Given the description of an element on the screen output the (x, y) to click on. 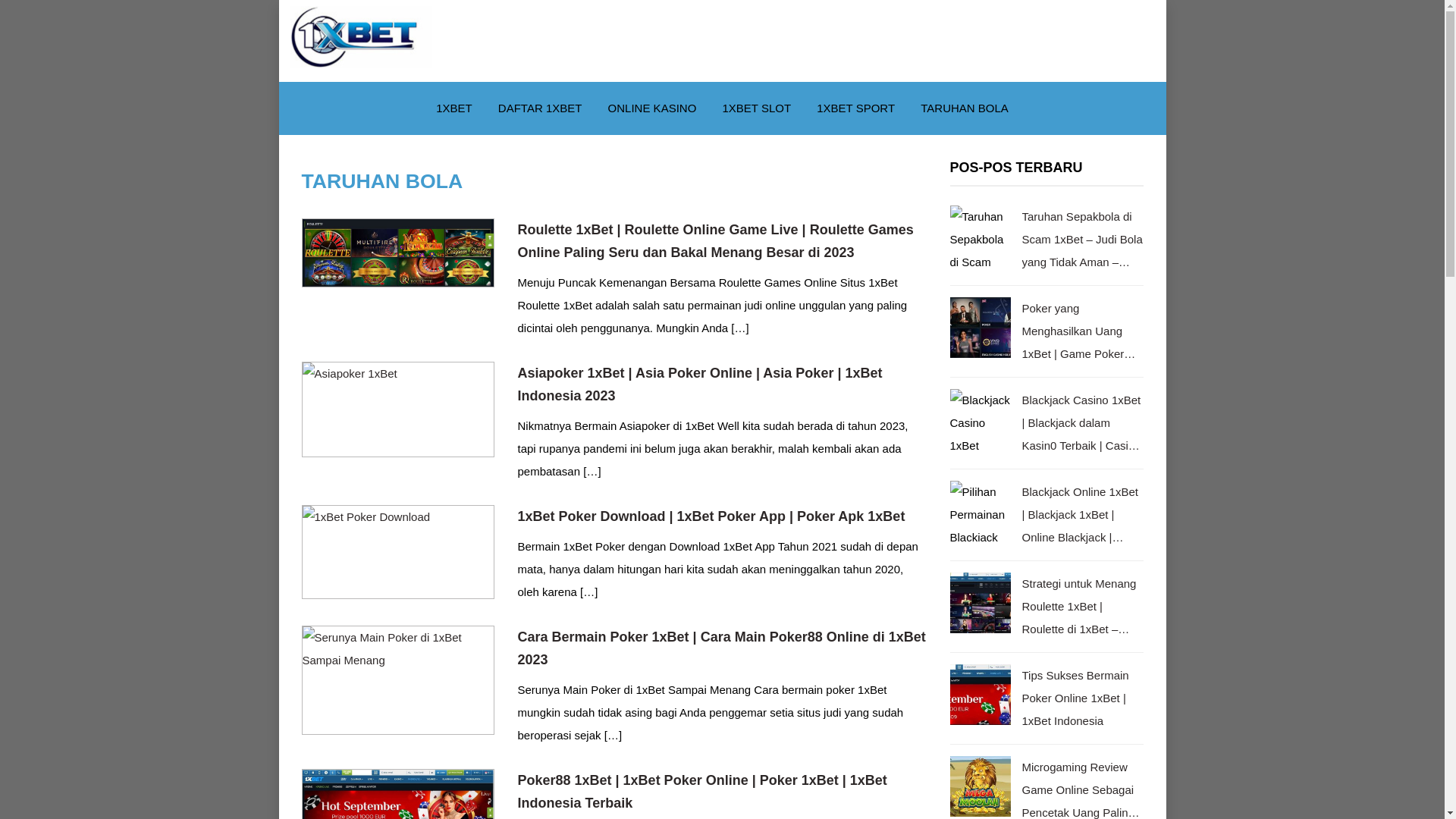
Tips Sukses Bermain Poker Online 1xBet | 1xBet Indonesia 26 Element type: hover (979, 694)
1xBet Poker Download | 1xBet Poker App | Poker Apk 1xBet Element type: hover (398, 552)
DAFTAR 1XBET Element type: text (540, 108)
TARUHAN BOLA Element type: text (964, 108)
1XBET Element type: text (454, 108)
1XBET SPORT Element type: text (855, 108)
1xBet Poker Download | 1xBet Poker App | Poker Apk 1xBet Element type: text (721, 516)
1XBET SLOT Element type: text (755, 108)
ONLINE KASINO Element type: text (652, 108)
Tips Sukses Bermain Poker Online 1xBet | 1xBet Indonesia Element type: text (1082, 698)
